Given the description of an element on the screen output the (x, y) to click on. 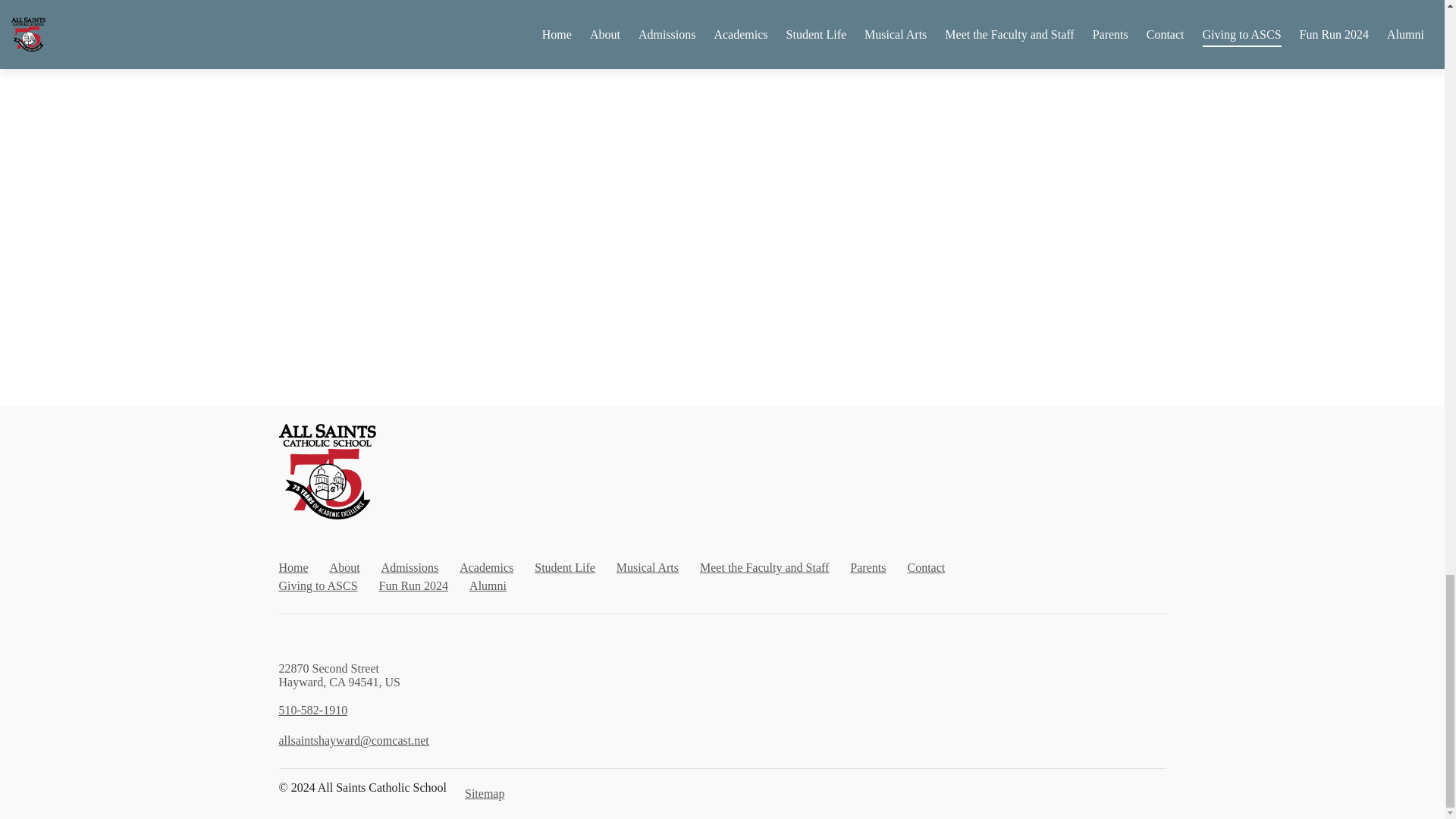
Admissions (410, 567)
Academics (486, 567)
Musical Arts (646, 567)
Contact (925, 567)
Parents (867, 567)
Student Life (564, 567)
Fun Run 2024 (413, 585)
Home (293, 567)
About (344, 567)
Alumni (487, 585)
